Given the description of an element on the screen output the (x, y) to click on. 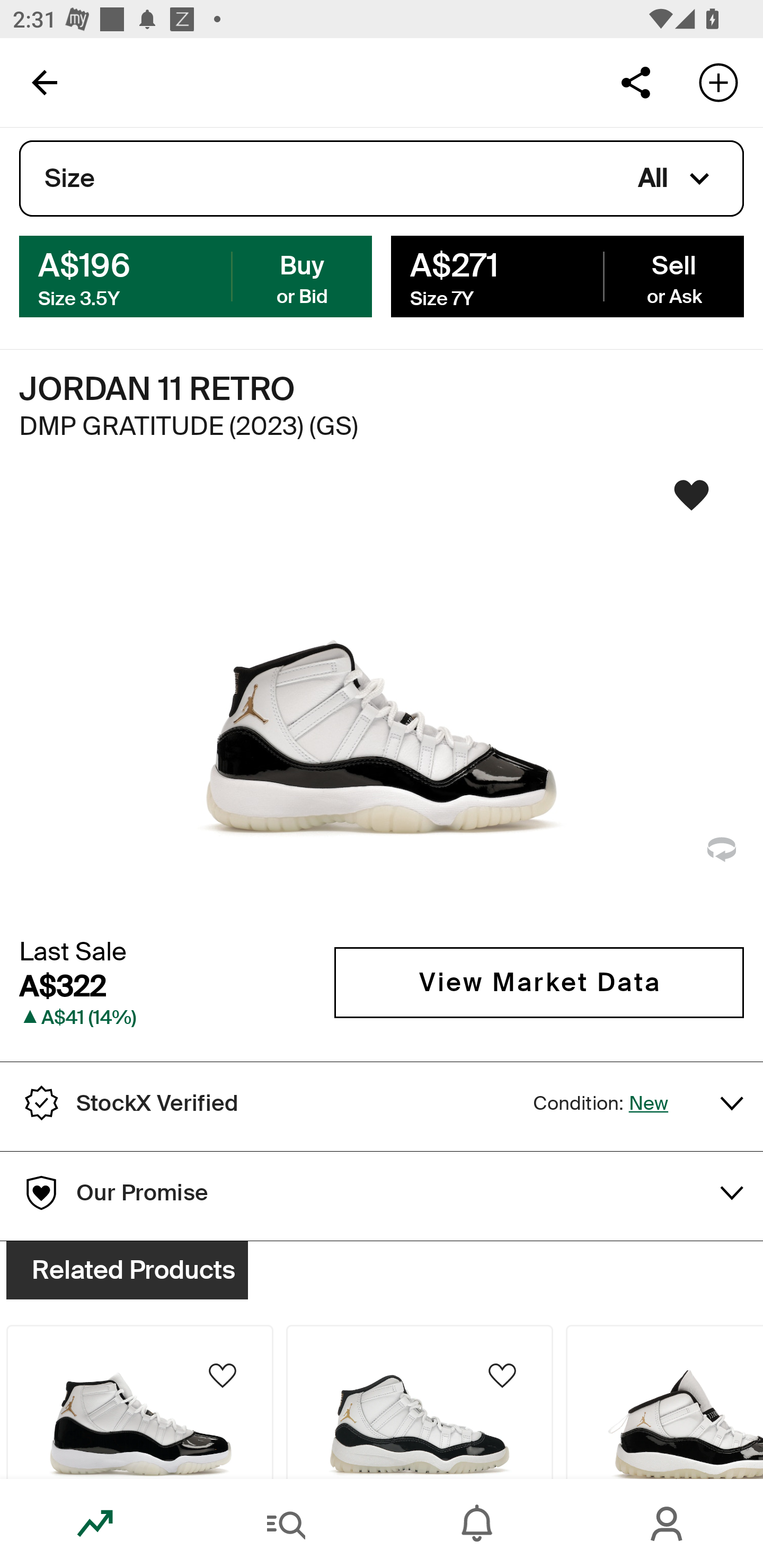
Share (635, 81)
Add (718, 81)
Size All (381, 178)
A$306 Buy Size 7 or Bid (195, 275)
A$437 Sell Size 15 or Ask (566, 275)
Sneaker Image (381, 699)
View Market Data (538, 982)
Product Image (139, 1401)
Product Image (419, 1401)
Product Image (664, 1401)
Search (285, 1523)
Inbox (476, 1523)
Account (667, 1523)
